Given the description of an element on the screen output the (x, y) to click on. 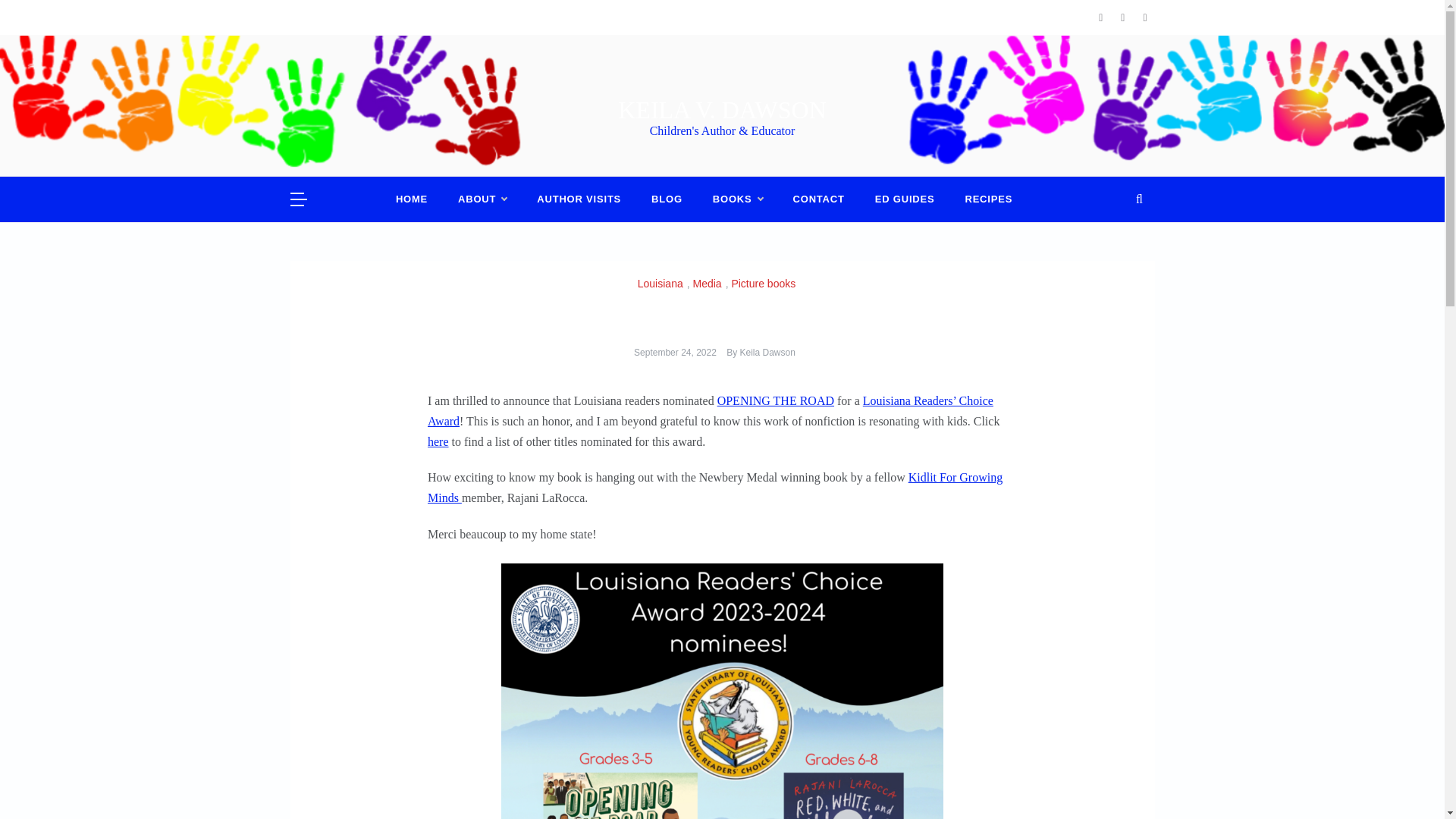
HOME (419, 198)
BLOG (666, 198)
ABOUT (481, 198)
CONTACT (818, 198)
BOOKS (737, 198)
ED GUIDES (905, 198)
AUTHOR VISITS (578, 198)
KEILA V. DAWSON (721, 109)
